Given the description of an element on the screen output the (x, y) to click on. 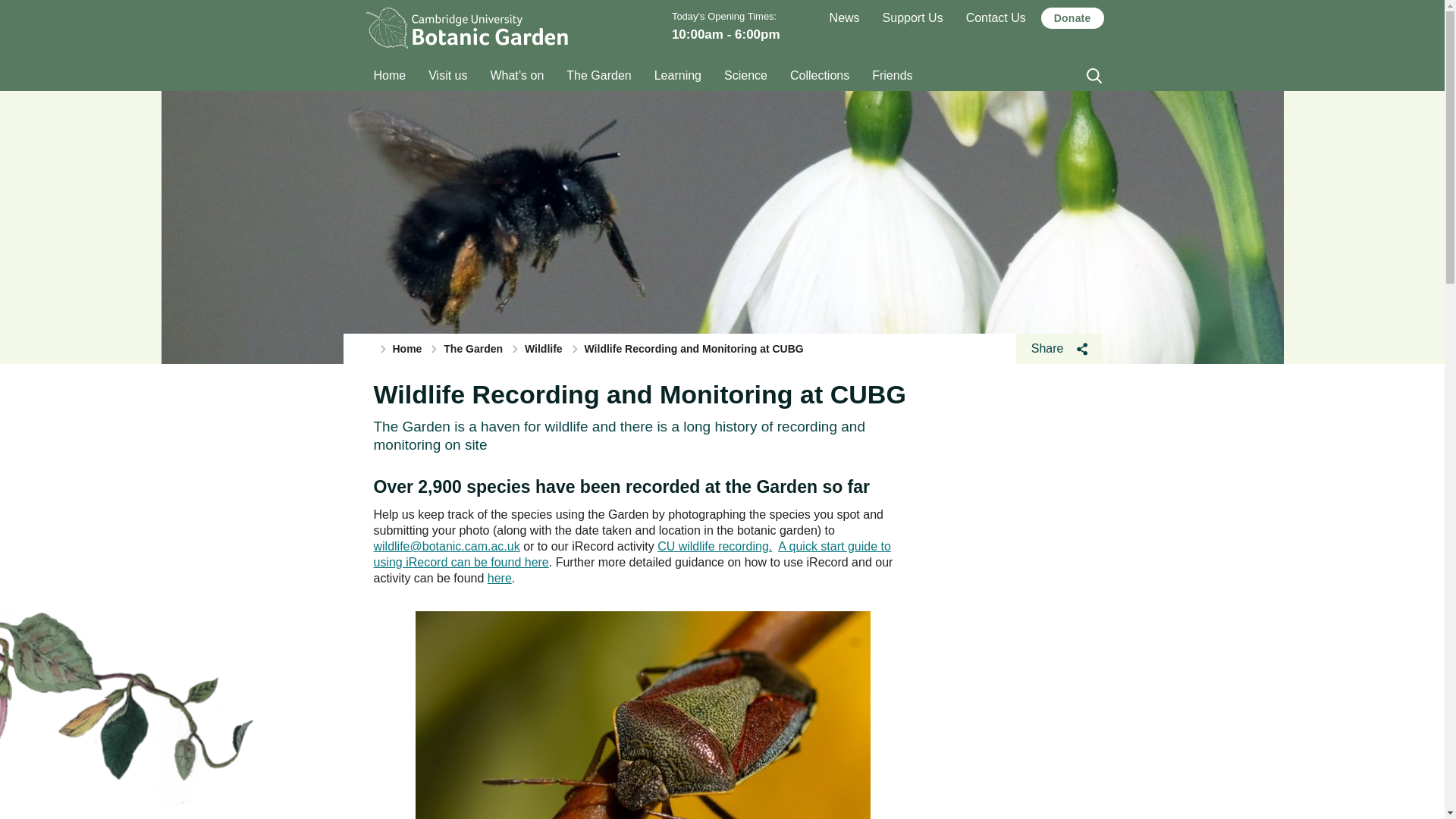
Permanent link: Wildlife Recording and Monitoring at CUBG (638, 394)
